Given the description of an element on the screen output the (x, y) to click on. 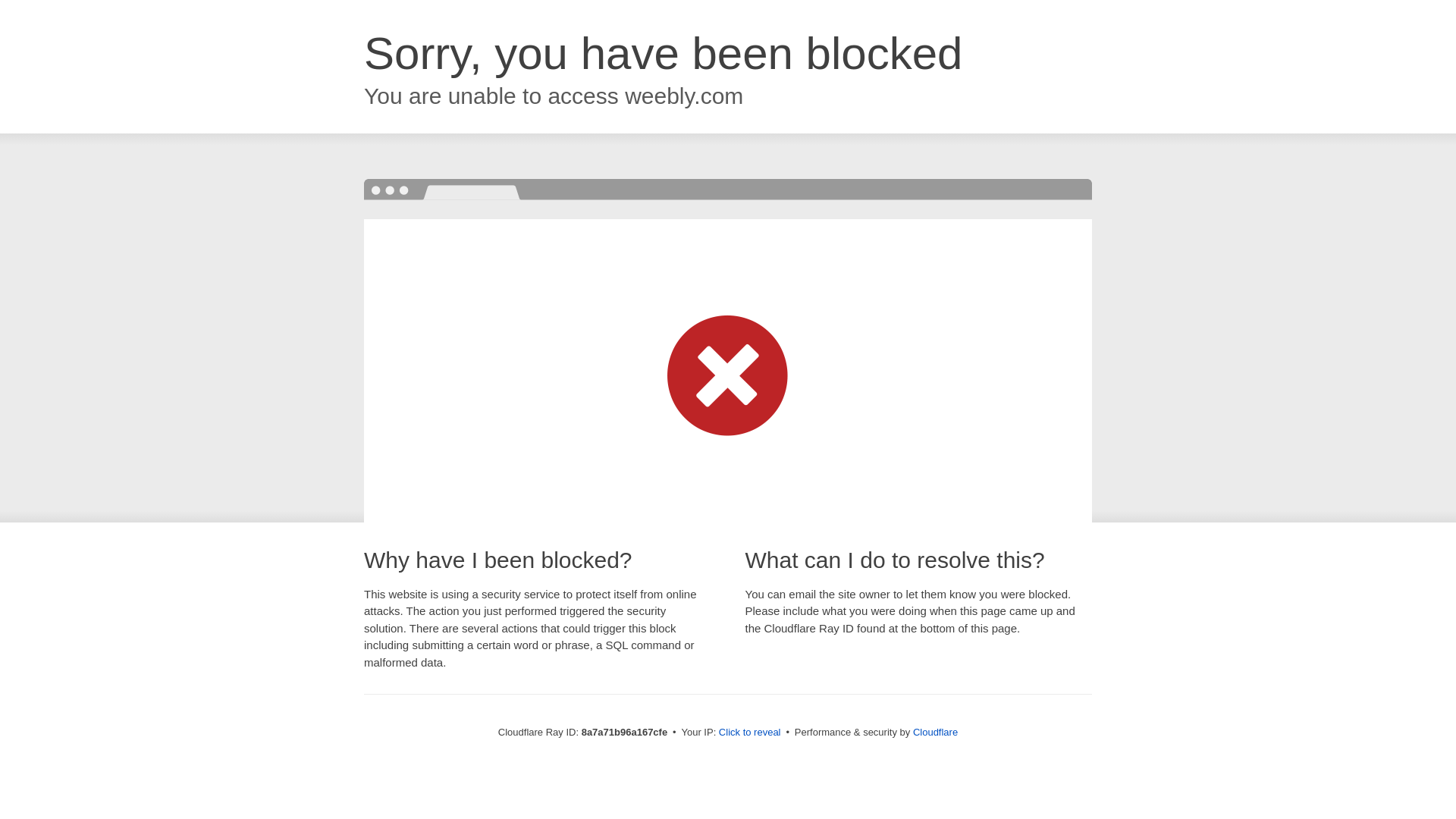
Cloudflare (935, 731)
Click to reveal (749, 732)
